Given the description of an element on the screen output the (x, y) to click on. 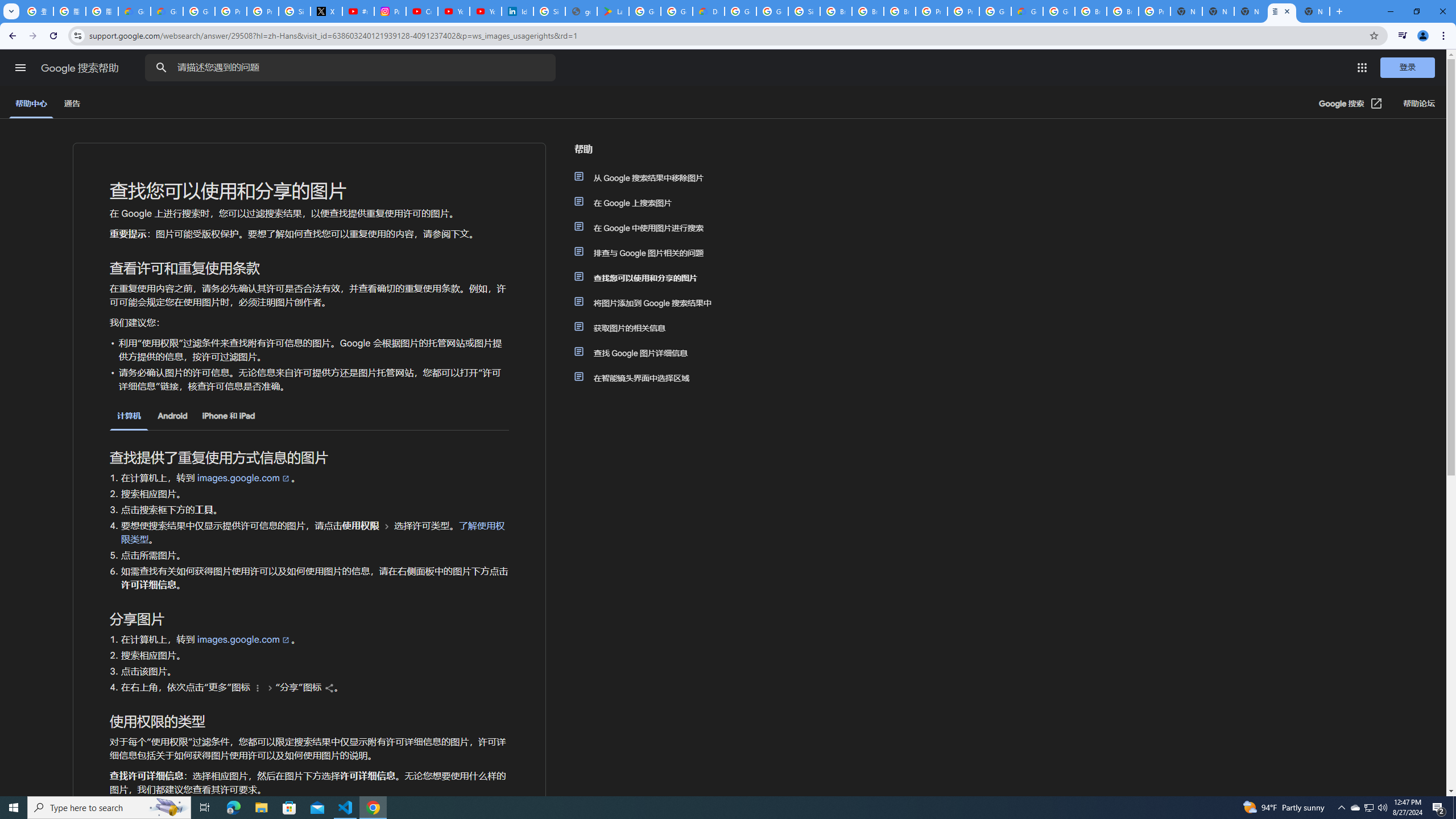
Google Cloud Estimate Summary (1027, 11)
Bookmark this tab (1373, 35)
Forward (32, 35)
Google Cloud Platform (740, 11)
Chrome (1445, 35)
Sign in - Google Accounts (549, 11)
X (326, 11)
Google Cloud Platform (995, 11)
YouTube Culture & Trends - YouTube Top 10, 2021 (485, 11)
